Given the description of an element on the screen output the (x, y) to click on. 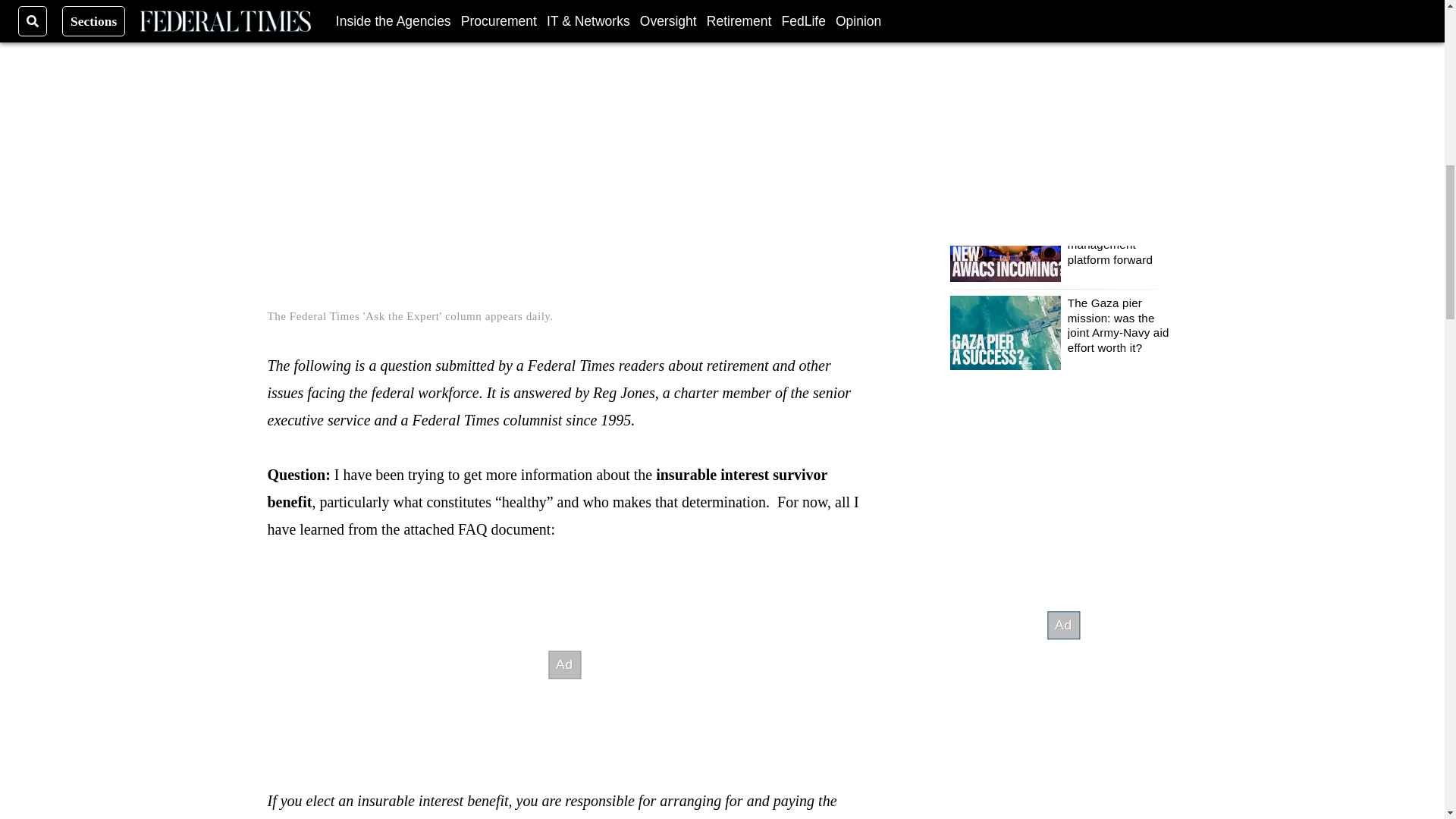
3rd party ad content (563, 665)
